Given the description of an element on the screen output the (x, y) to click on. 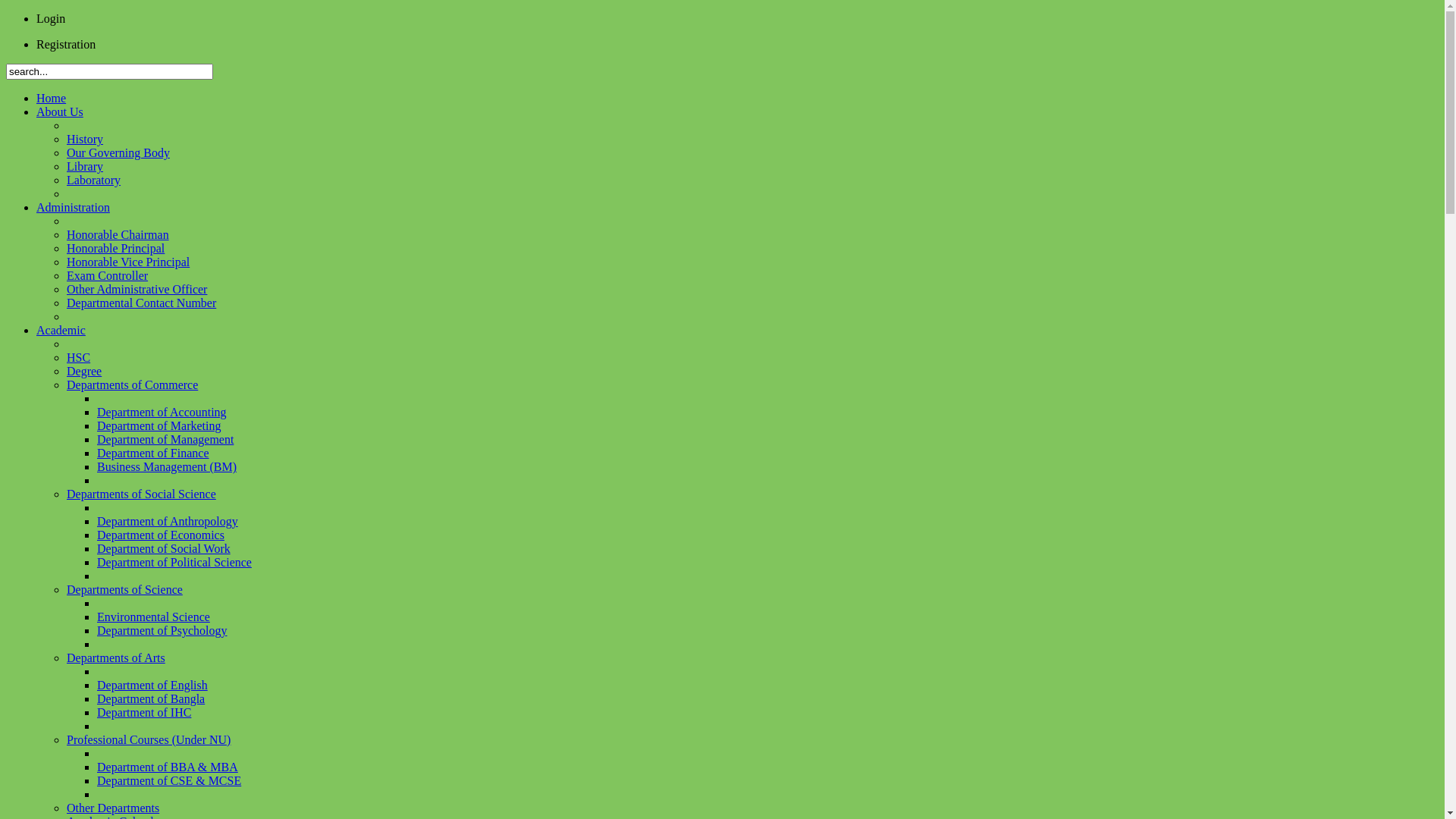
Departments of Commerce Element type: text (131, 384)
Department of Economics Element type: text (160, 534)
Department of Political Science Element type: text (174, 561)
Honorable Vice Principal Element type: text (127, 261)
History Element type: text (84, 138)
Department of BBA & MBA Element type: text (167, 766)
Other Administrative Officer Element type: text (136, 288)
Environmental Science Element type: text (153, 616)
Departments of Arts Element type: text (115, 657)
Academic Element type: text (60, 329)
Departmental Contact Number Element type: text (141, 302)
Department of Management Element type: text (165, 439)
Department of English Element type: text (152, 684)
Exam Controller Element type: text (106, 275)
Library Element type: text (84, 166)
Administration Element type: text (72, 206)
Departments of Social Science Element type: text (141, 493)
Home Element type: text (50, 97)
About Us Element type: text (59, 111)
Department of Bangla Element type: text (150, 698)
Other Departments Element type: text (112, 807)
Department of IHC Element type: text (144, 712)
Laboratory Element type: text (93, 179)
Professional Courses (Under NU) Element type: text (148, 739)
Department of Finance Element type: text (153, 452)
Department of Psychology Element type: text (162, 630)
Department of Marketing Element type: text (159, 425)
Honorable Chairman Element type: text (117, 234)
Honorable Principal Element type: text (115, 247)
HSC Element type: text (78, 357)
Department of CSE & MCSE Element type: text (169, 780)
Departments of Science Element type: text (124, 589)
Business Management (BM) Element type: text (166, 466)
Degree Element type: text (83, 370)
Our Governing Body Element type: text (117, 152)
Department of Accounting Element type: text (161, 411)
Department of Anthropology Element type: text (167, 520)
Department of Social Work Element type: text (163, 548)
